Given the description of an element on the screen output the (x, y) to click on. 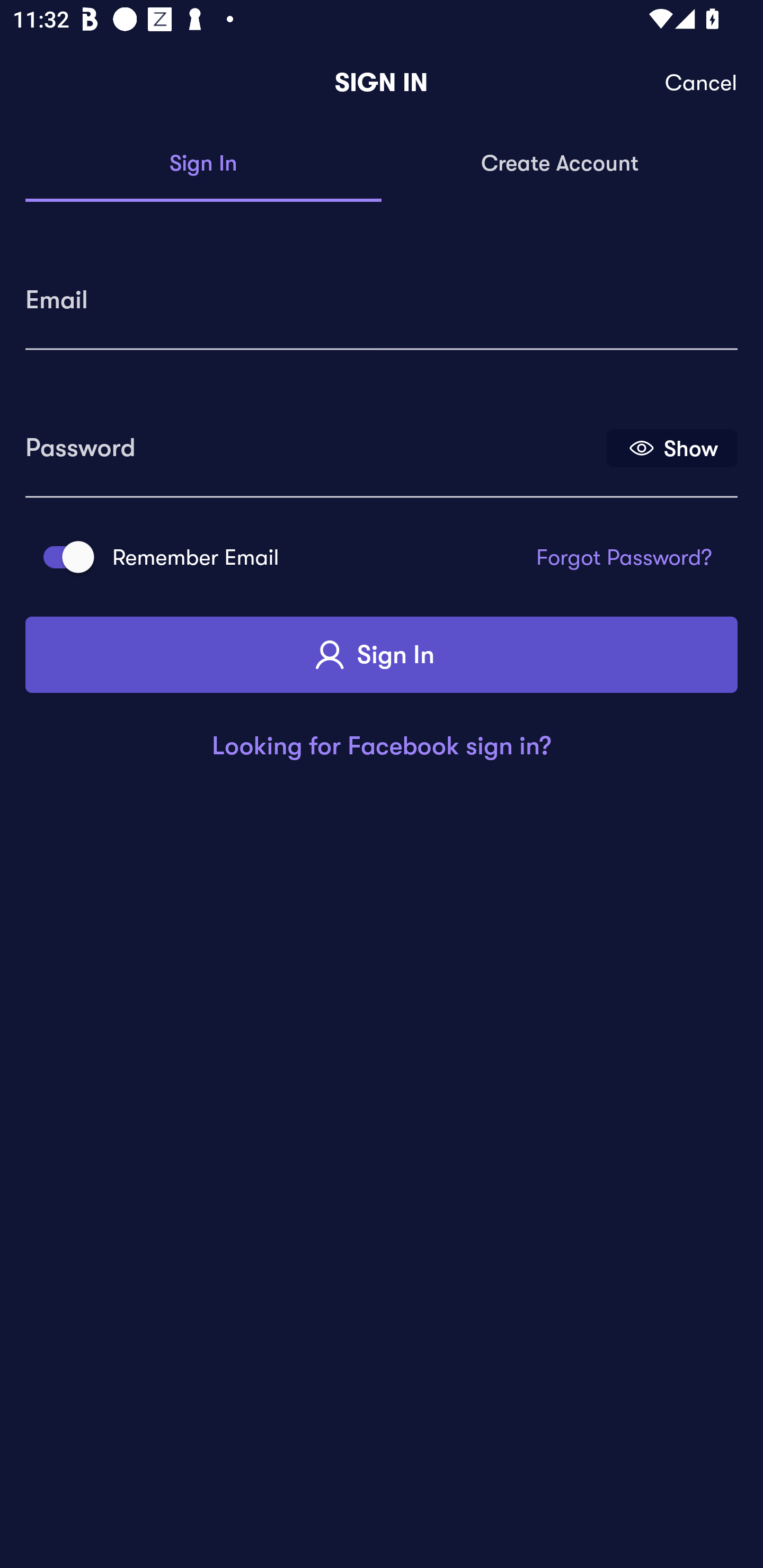
Cancel (701, 82)
Sign In (203, 164)
Create Account (559, 164)
Email (381, 293)
Password (314, 441)
Show Password Show (671, 447)
Remember Email (62, 557)
Sign In (381, 654)
